Given the description of an element on the screen output the (x, y) to click on. 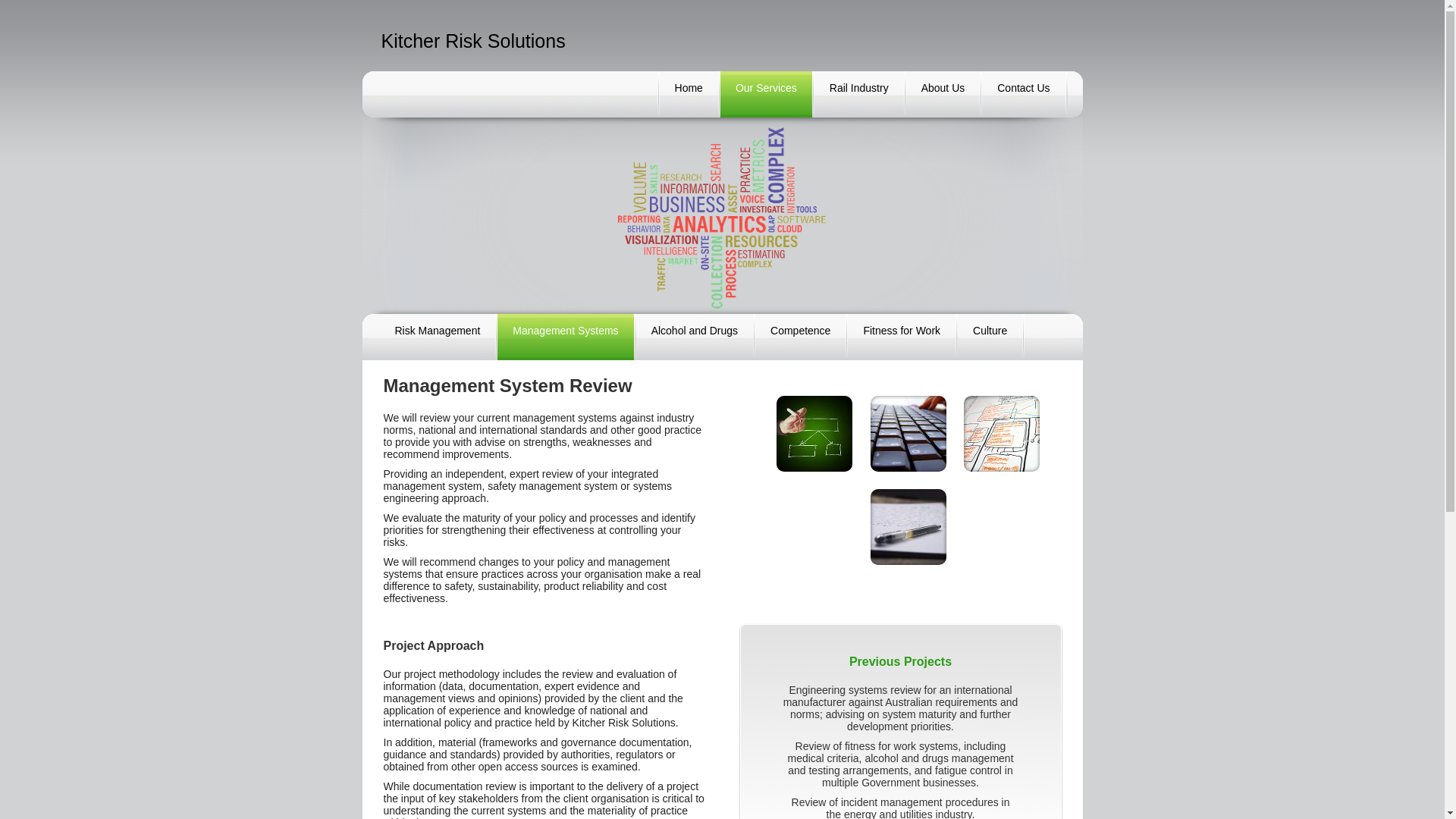
Our Services Element type: text (766, 94)
Rail Industry Element type: text (858, 94)
Competence Element type: text (800, 336)
Home Element type: text (688, 94)
Fitness for Work Element type: text (901, 336)
Alcohol and Drugs Element type: text (694, 336)
Culture Element type: text (989, 336)
Risk Management Element type: text (437, 336)
Contact Us Element type: text (1023, 94)
Management Systems Element type: text (565, 336)
Kitcher Risk Solutions Element type: text (472, 40)
About Us Element type: text (943, 94)
